Given the description of an element on the screen output the (x, y) to click on. 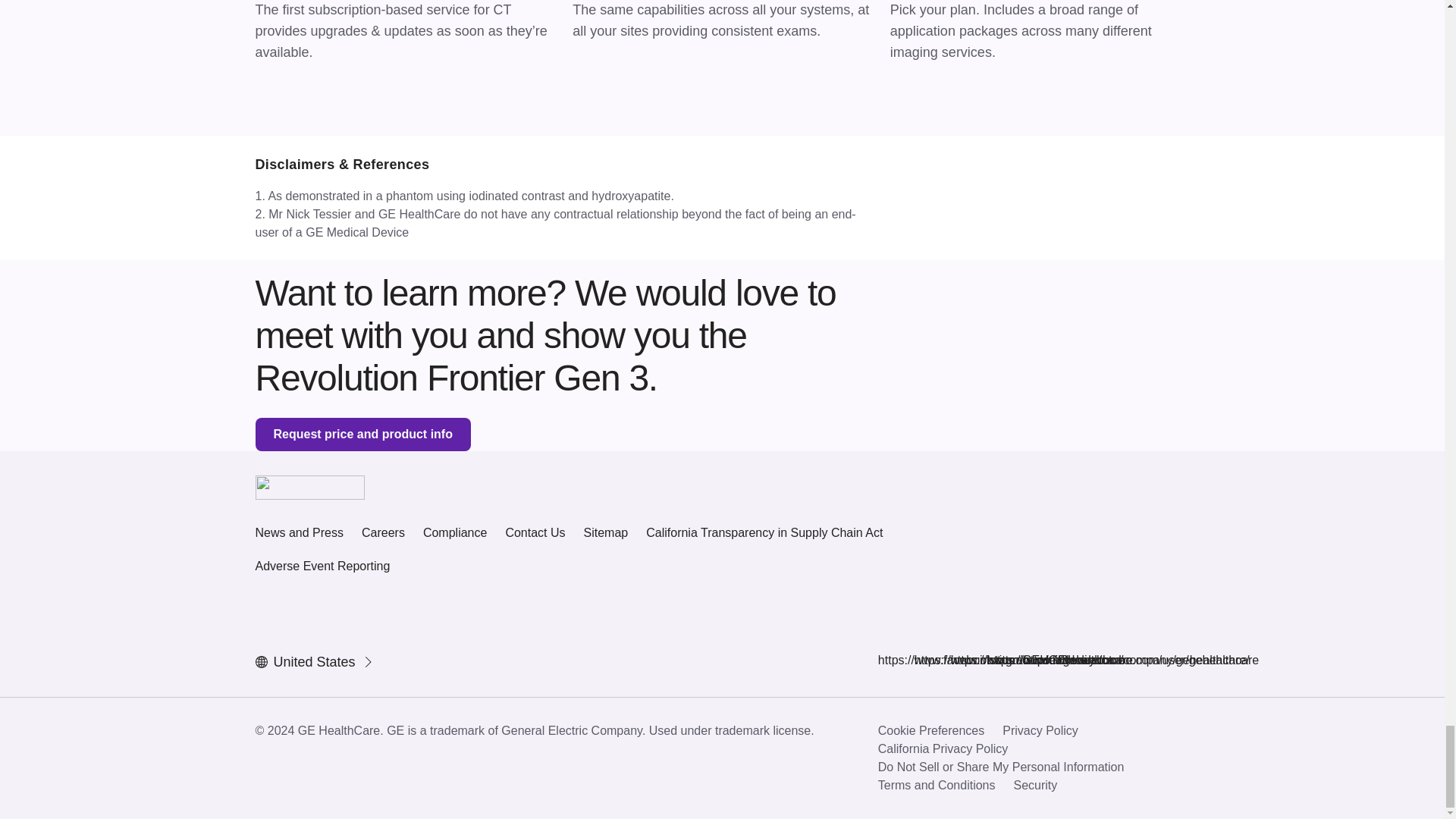
Cookie Preferences (931, 730)
